Given the description of an element on the screen output the (x, y) to click on. 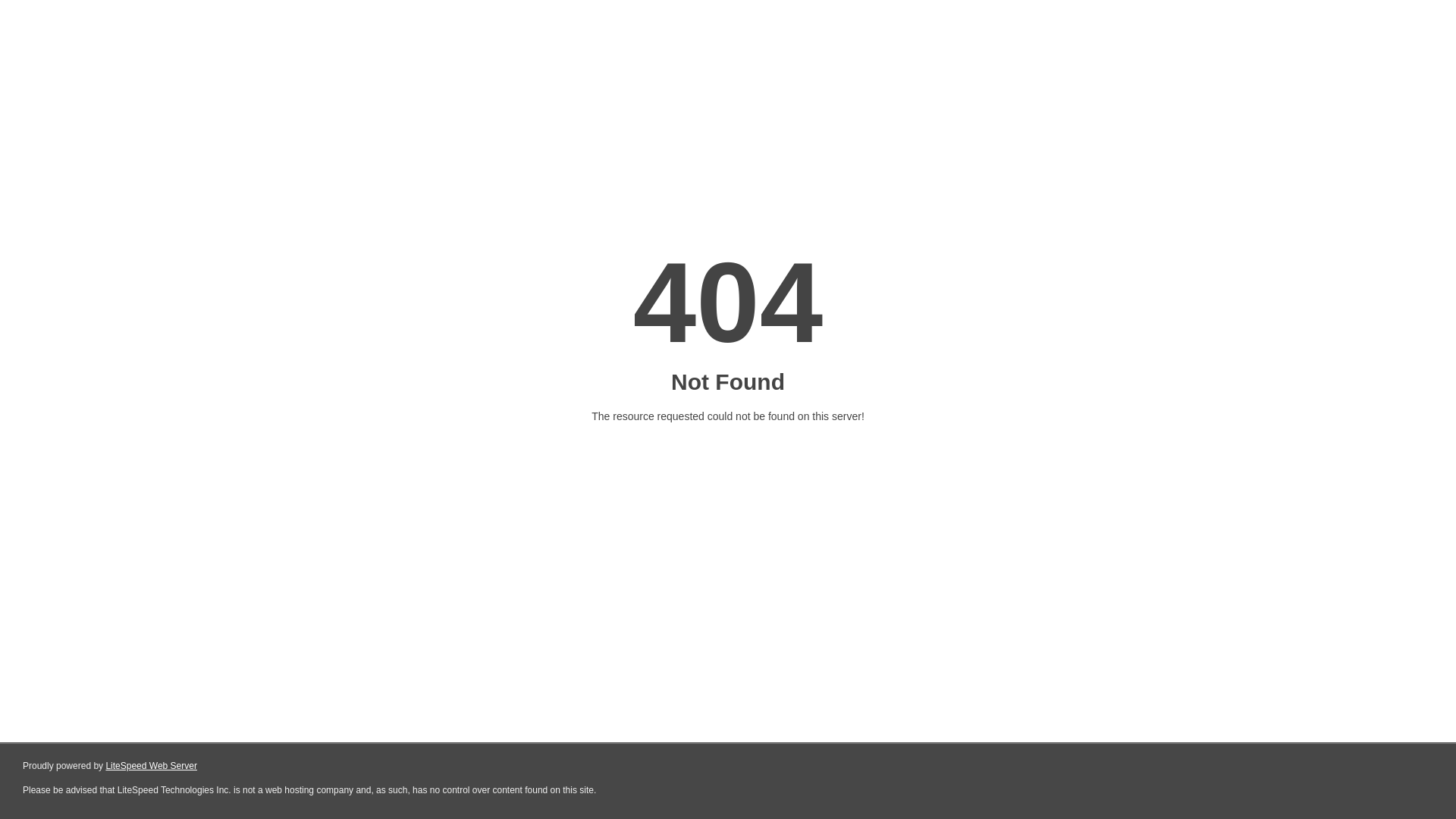
LiteSpeed Web Server Element type: text (151, 765)
